Given the description of an element on the screen output the (x, y) to click on. 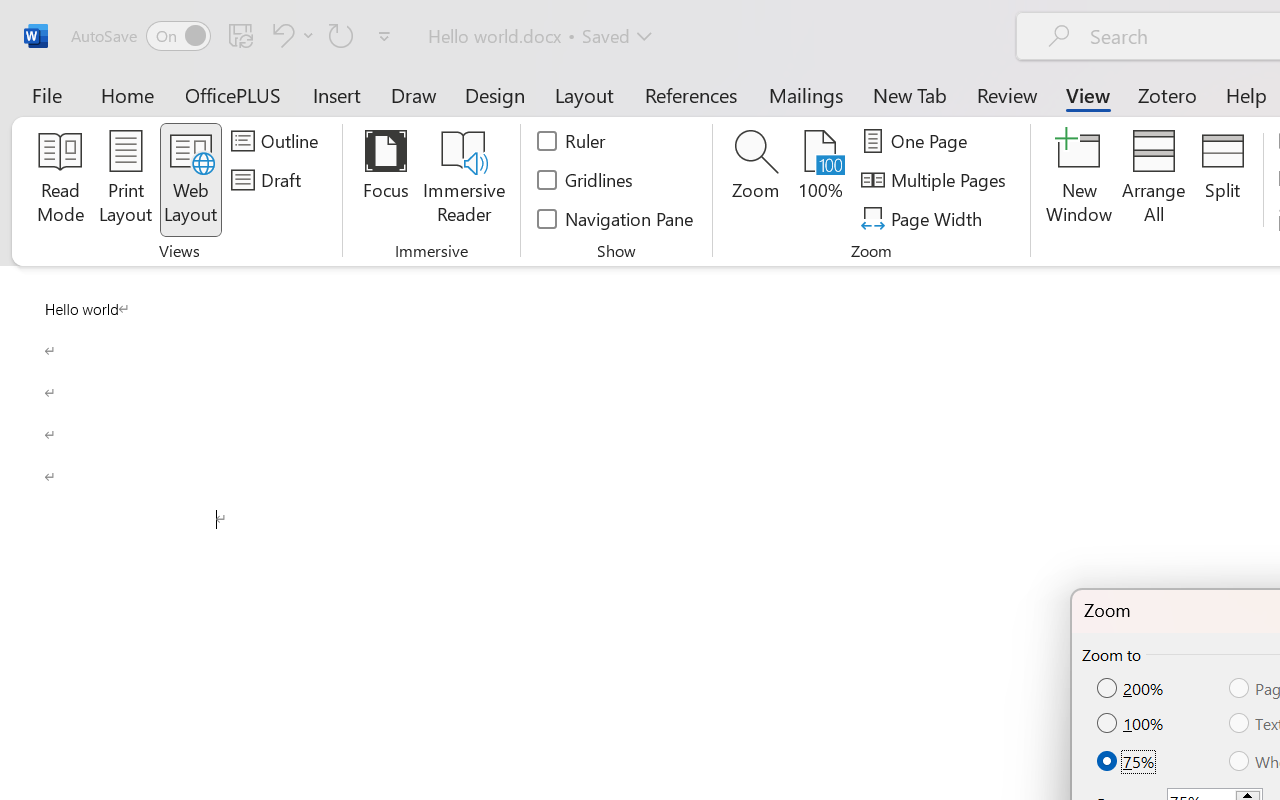
AutoSave (140, 35)
Draft (269, 179)
Can't Repeat (341, 35)
More Options (308, 35)
Undo Paragraph Formatting (280, 35)
View (1087, 94)
References (690, 94)
Gridlines (586, 179)
Ruler (572, 141)
Zotero (1166, 94)
Design (495, 94)
200% (1131, 689)
New Window (1079, 179)
OfficePLUS (233, 94)
Draw (413, 94)
